Given the description of an element on the screen output the (x, y) to click on. 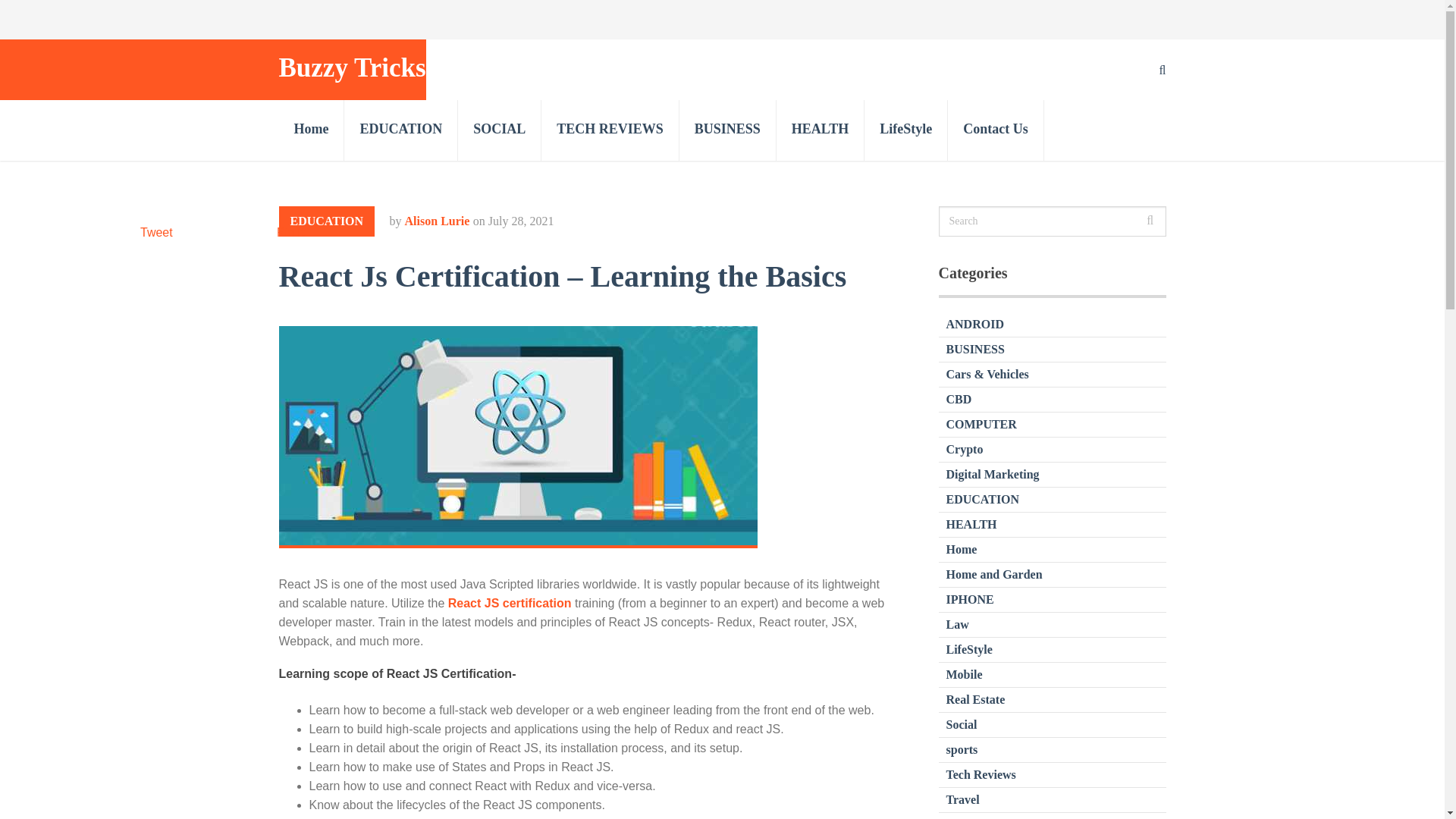
EDUCATION (983, 499)
Pin It (290, 232)
LifeStyle (905, 129)
React JS certification (510, 603)
View all posts in EDUCATION (327, 221)
BUSINESS (975, 349)
COMPUTER (981, 423)
Home (312, 129)
SOCIAL (499, 129)
HEALTH (820, 129)
